Given the description of an element on the screen output the (x, y) to click on. 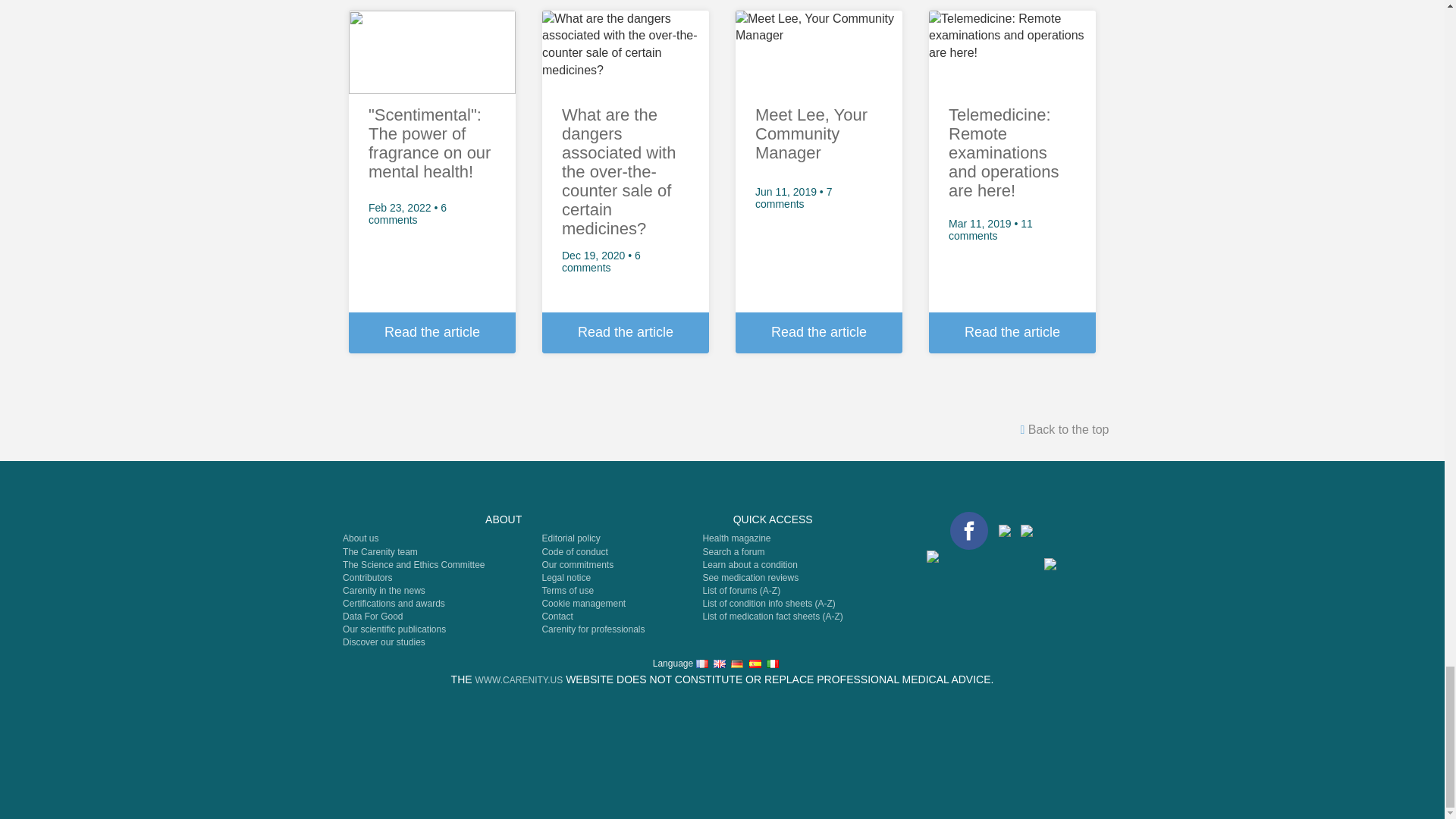
Spanish (755, 664)
German (736, 664)
Italian (772, 664)
French (701, 664)
English (719, 664)
